Given the description of an element on the screen output the (x, y) to click on. 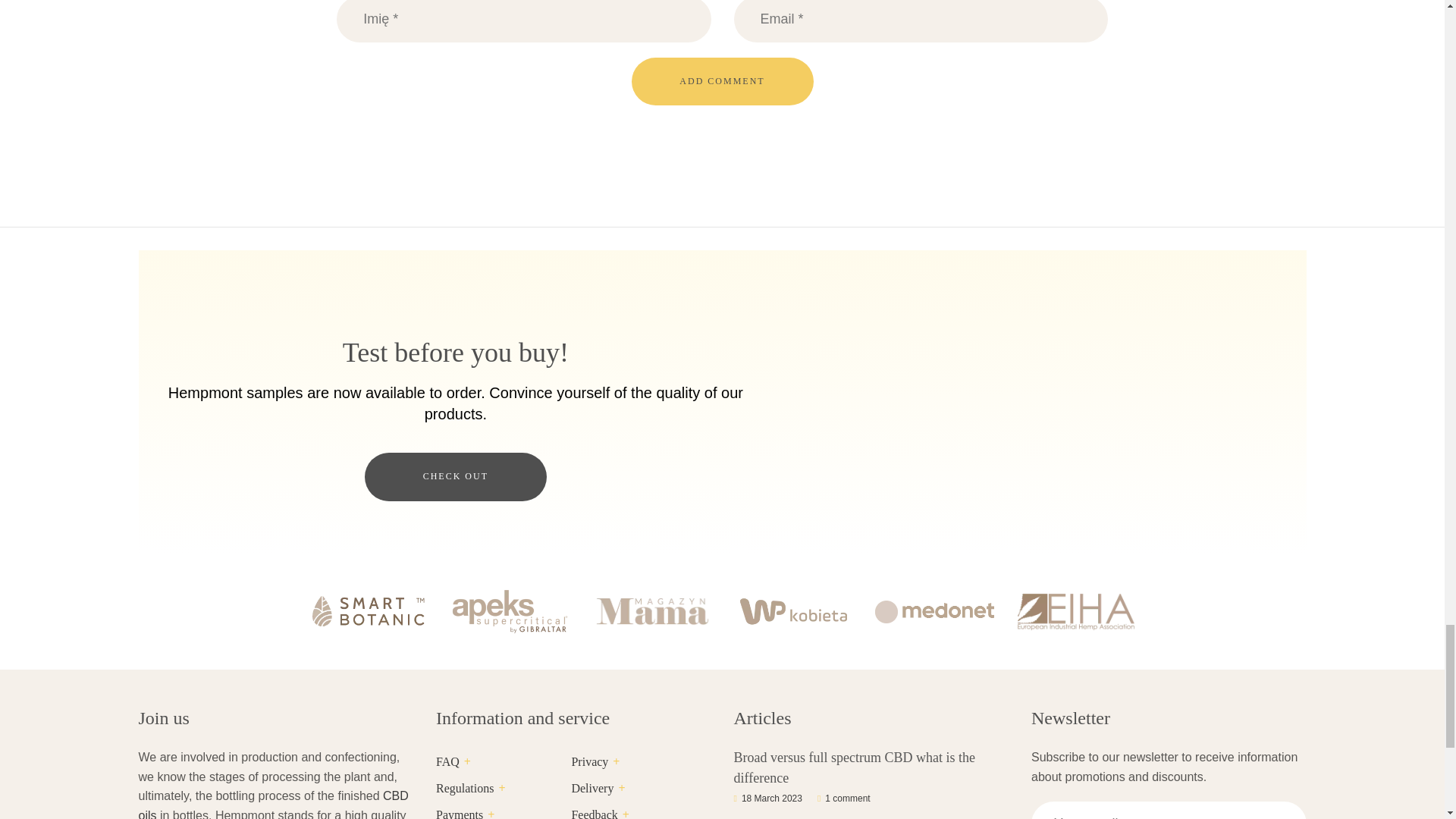
Add comment (721, 81)
